Given the description of an element on the screen output the (x, y) to click on. 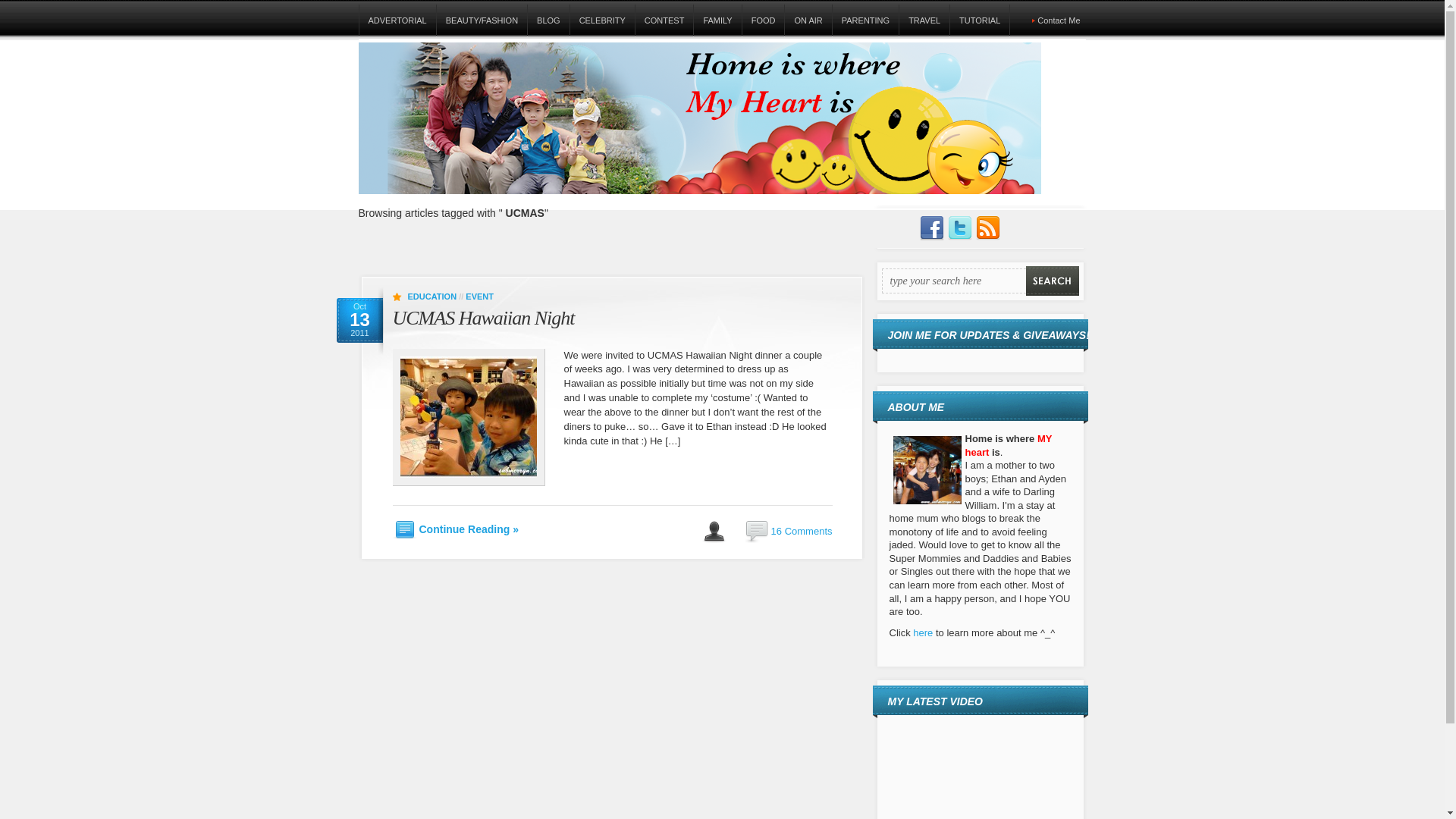
type your search here (952, 280)
EDUCATION (432, 296)
TRAVEL (923, 20)
EVENT (479, 296)
FAMILY (717, 20)
FOOD (762, 20)
ADVERTORIAL (396, 20)
ON AIR (807, 20)
CELEBRITY (601, 20)
PARENTING (864, 20)
